Given the description of an element on the screen output the (x, y) to click on. 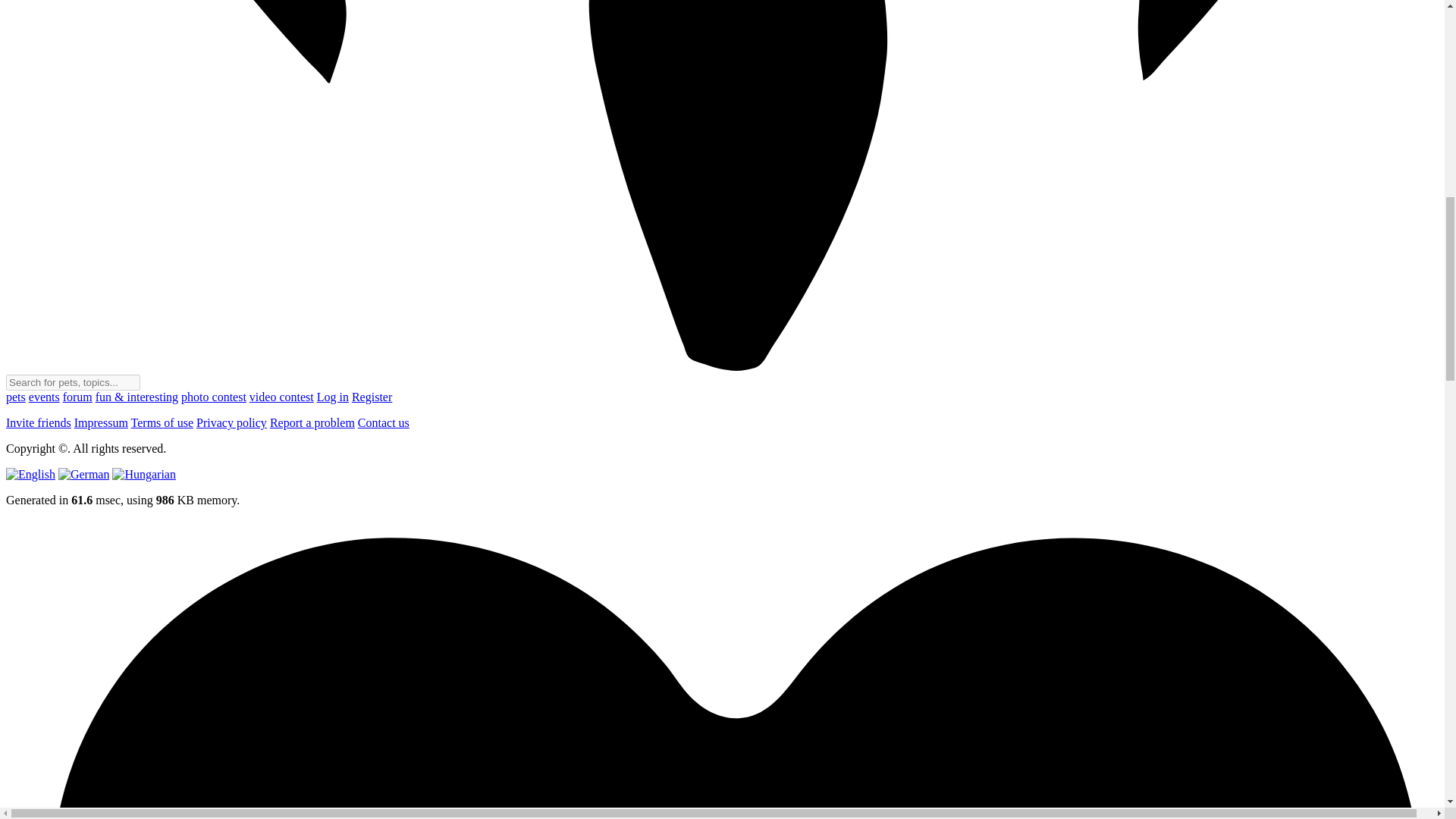
Register (371, 396)
Impressum (101, 422)
Report a problem (312, 422)
photo contest (213, 396)
Invite friends (38, 422)
forum (77, 396)
Contact us (383, 422)
events (44, 396)
Log in (333, 396)
pets (15, 396)
